Given the description of an element on the screen output the (x, y) to click on. 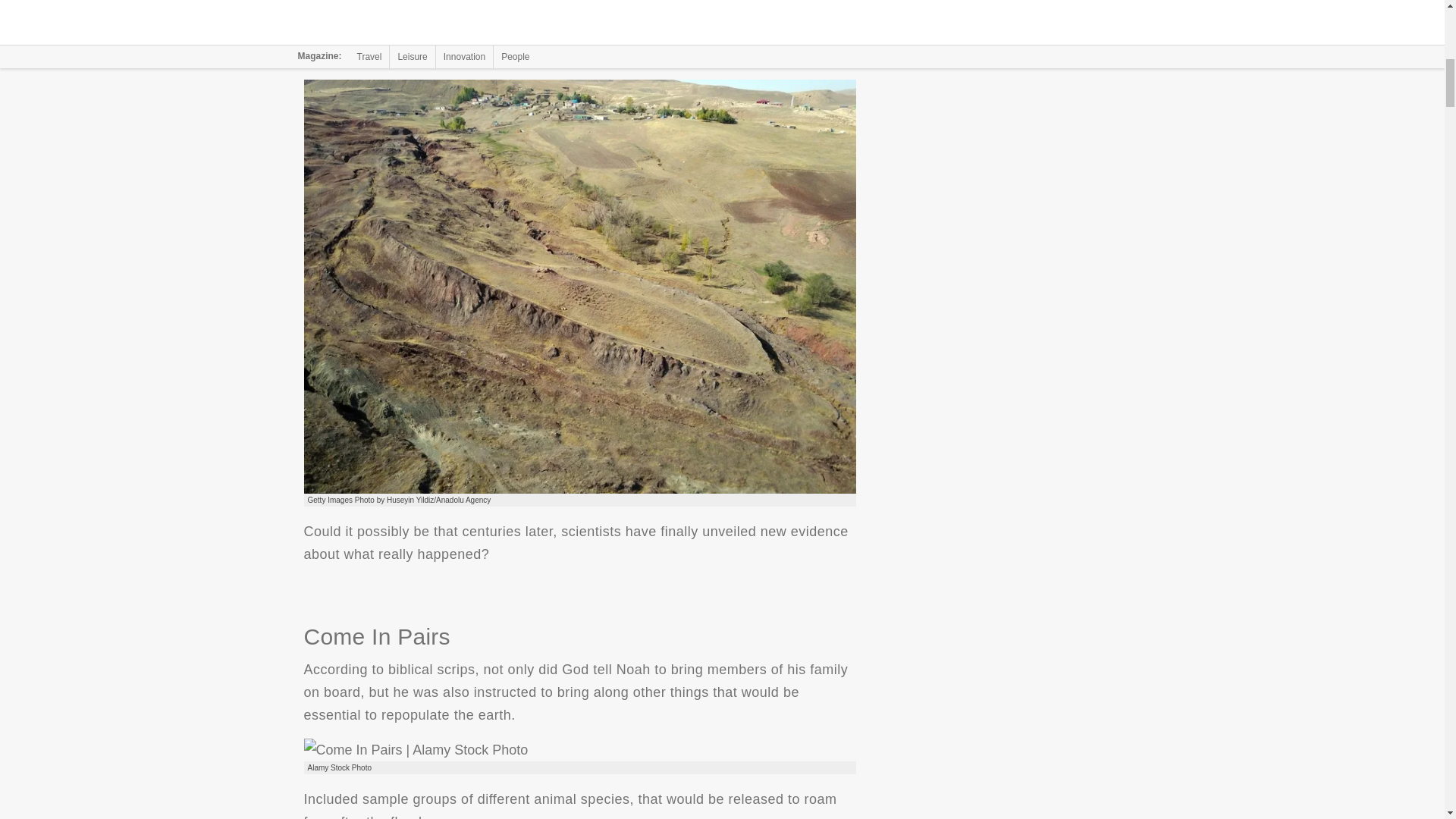
Come In Pairs (414, 749)
